Given the description of an element on the screen output the (x, y) to click on. 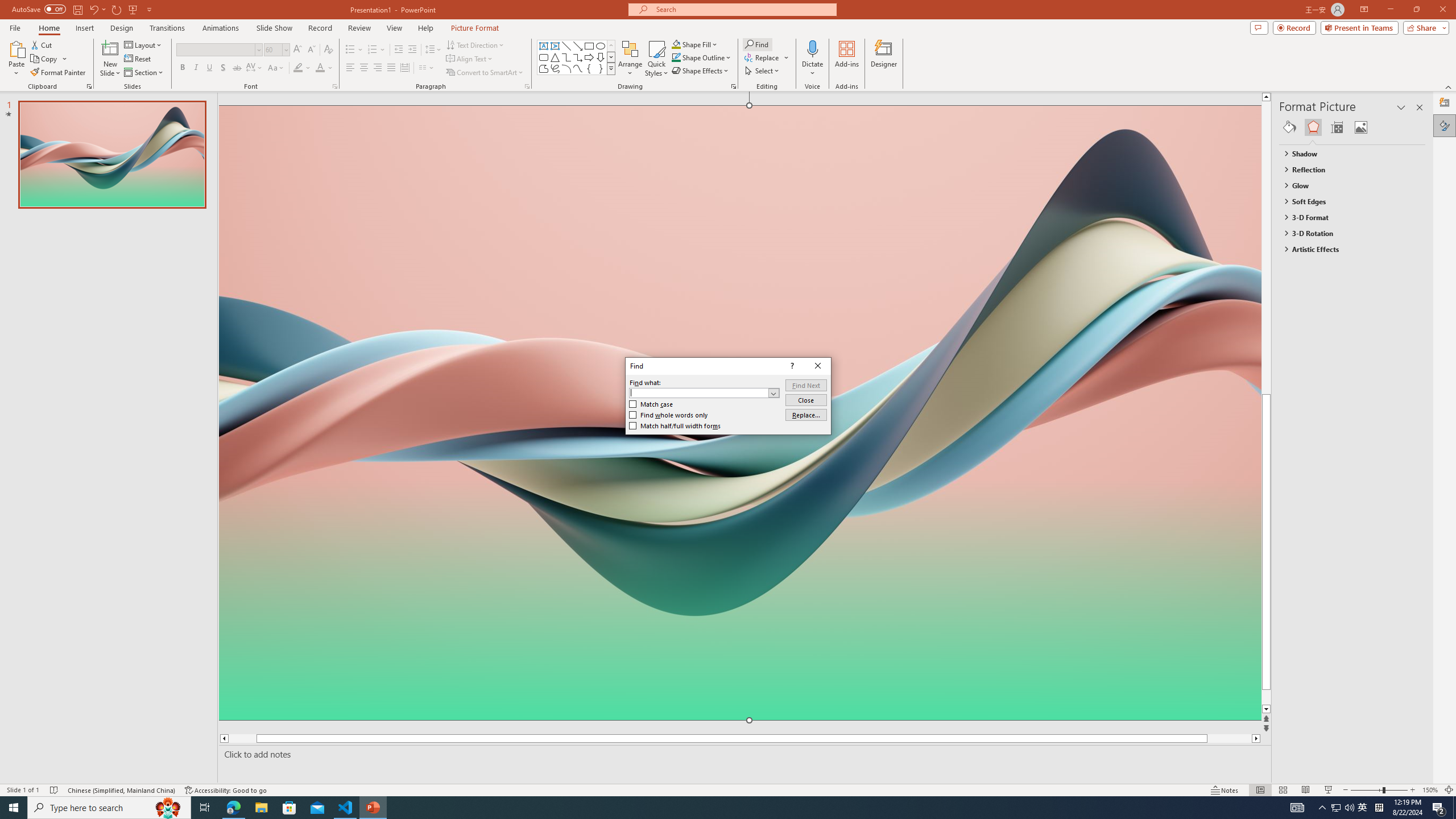
Picture (1361, 126)
Underline (209, 67)
Reset (138, 58)
Decrease Font Size (310, 49)
Align Right (377, 67)
Artistic Effects (1347, 248)
Zoom 150% (1430, 790)
